Given the description of an element on the screen output the (x, y) to click on. 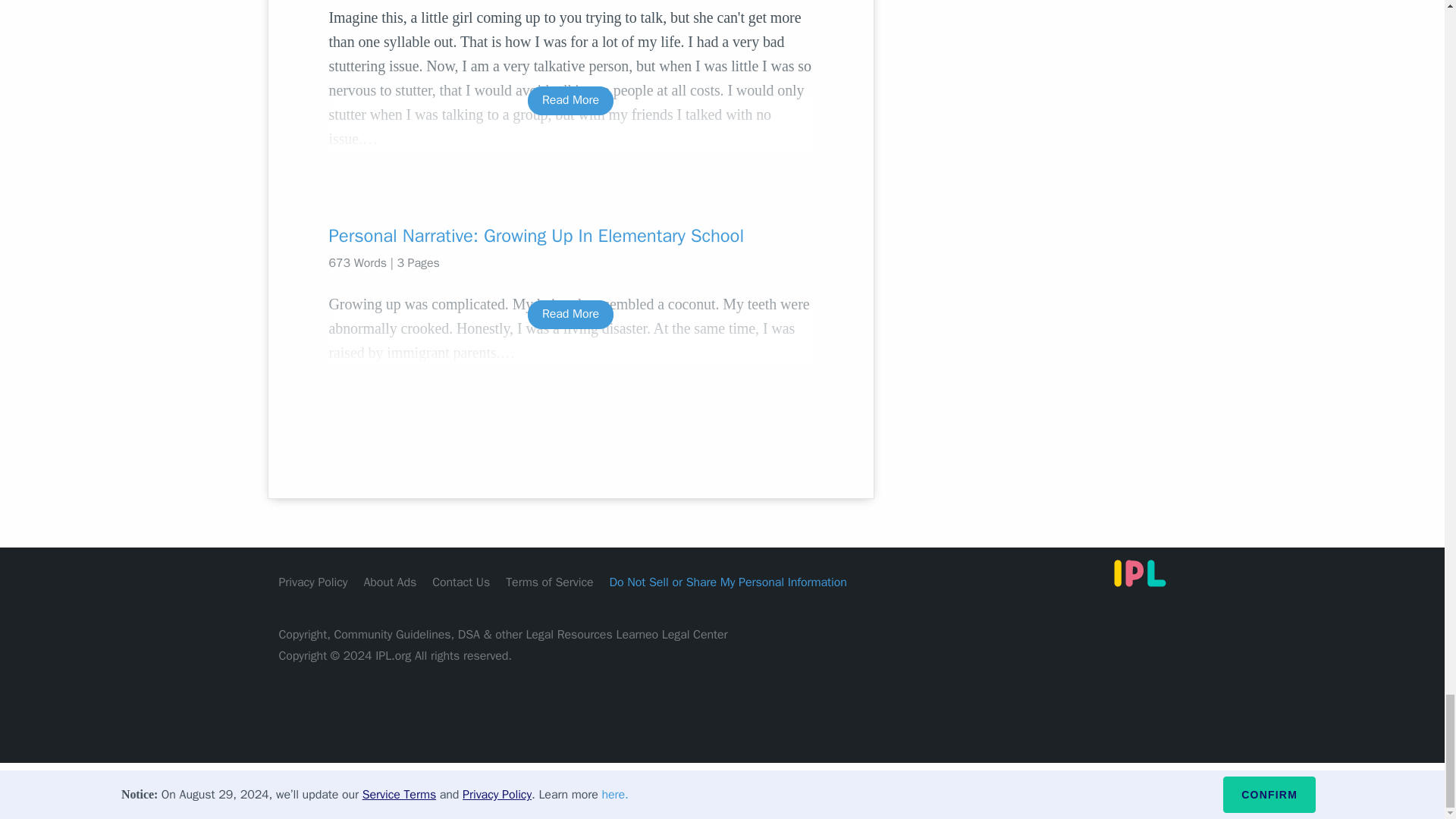
Terms of Service (548, 581)
Contact Us (460, 581)
About Ads (389, 581)
Privacy Policy (313, 581)
